Given the description of an element on the screen output the (x, y) to click on. 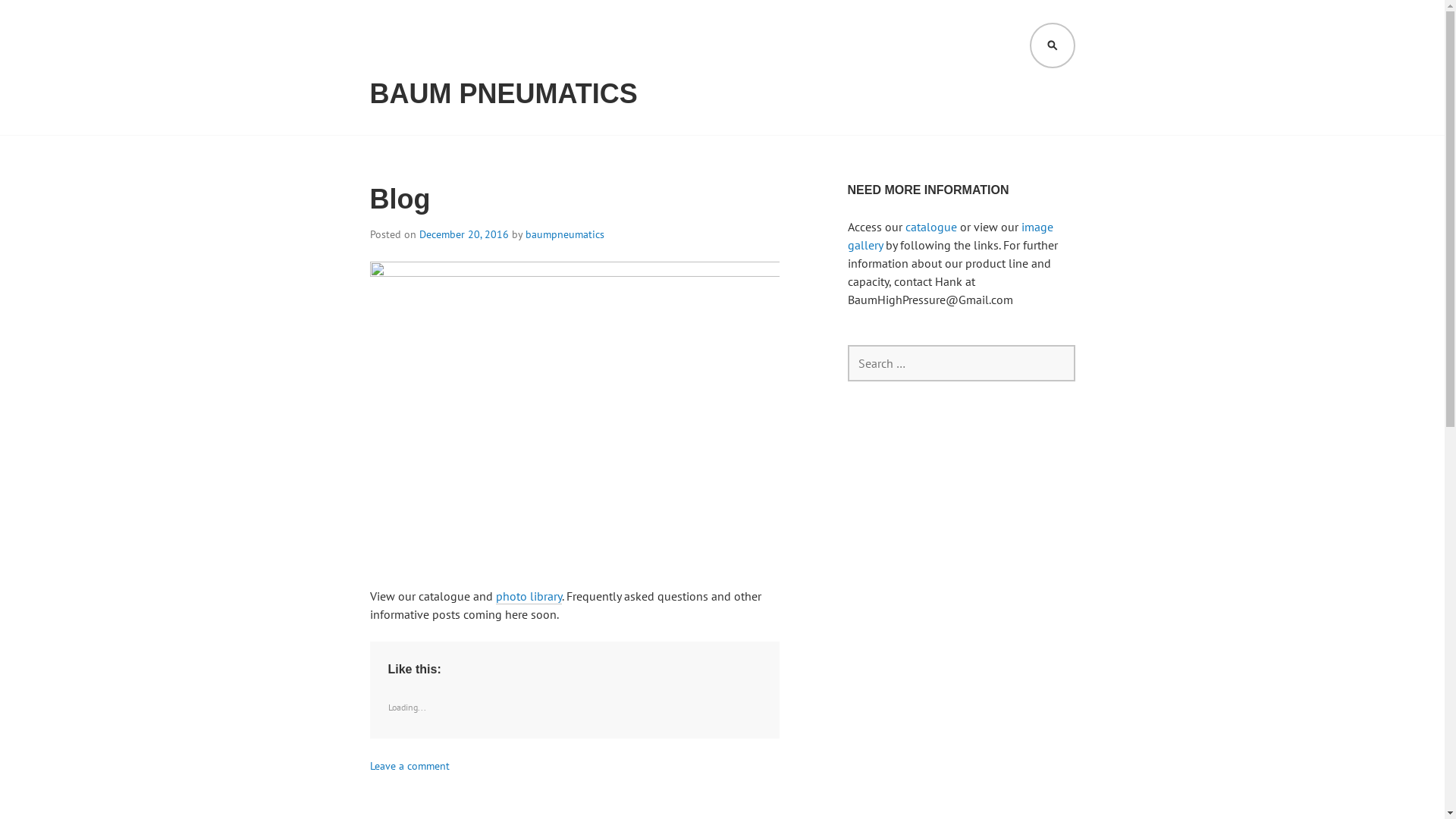
baumpneumatics Element type: text (563, 234)
BAUM PNEUMATICS Element type: text (503, 93)
catalogue Element type: text (931, 226)
SEARCH Element type: text (1052, 45)
Leave a comment Element type: text (409, 765)
image gallery Element type: text (950, 235)
Search Element type: text (45, 17)
photo library Element type: text (528, 596)
December 20, 2016 Element type: text (463, 234)
